Given the description of an element on the screen output the (x, y) to click on. 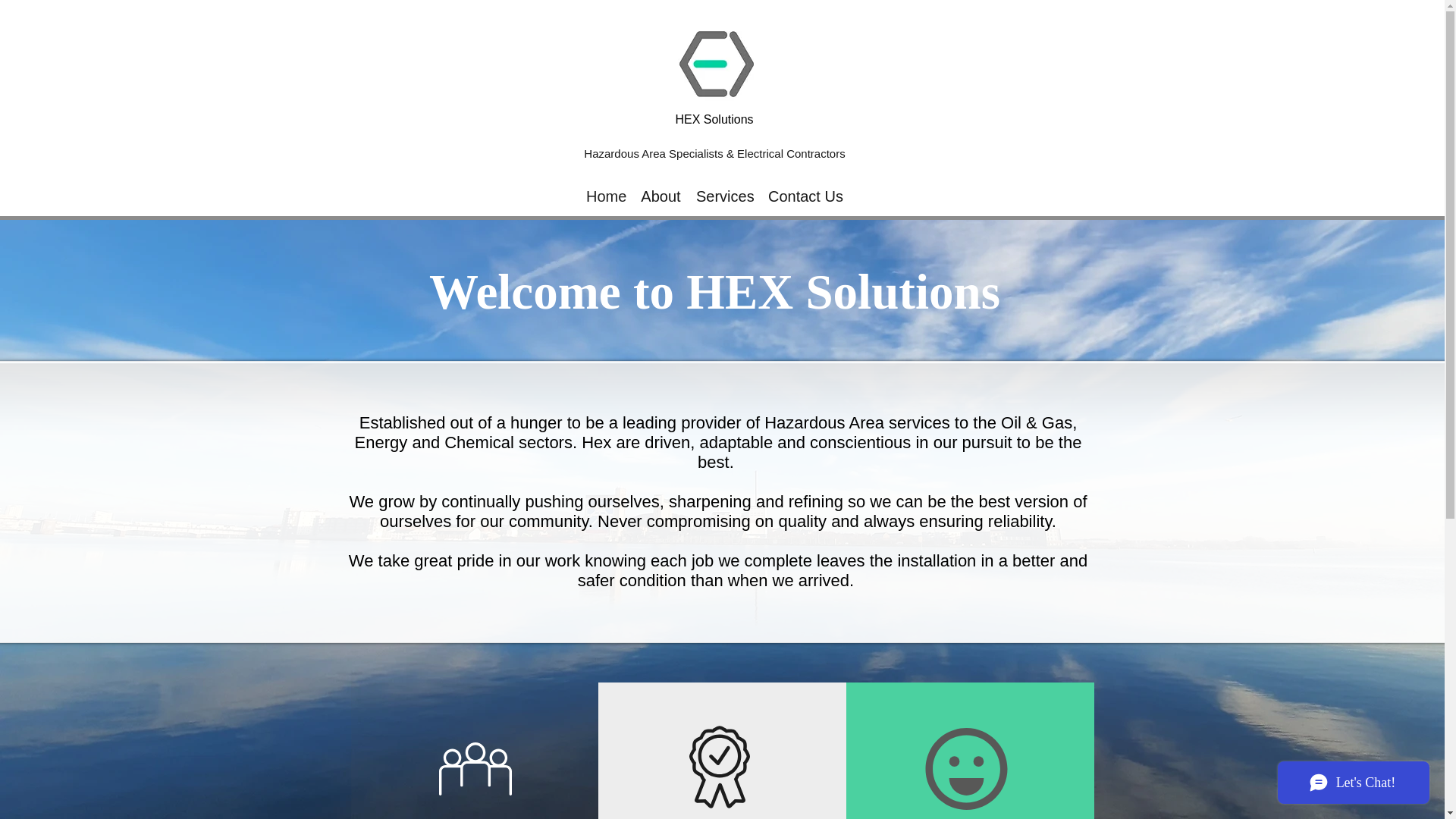
Contact Us (804, 196)
Services (724, 196)
Home (605, 196)
About (660, 196)
